Given the description of an element on the screen output the (x, y) to click on. 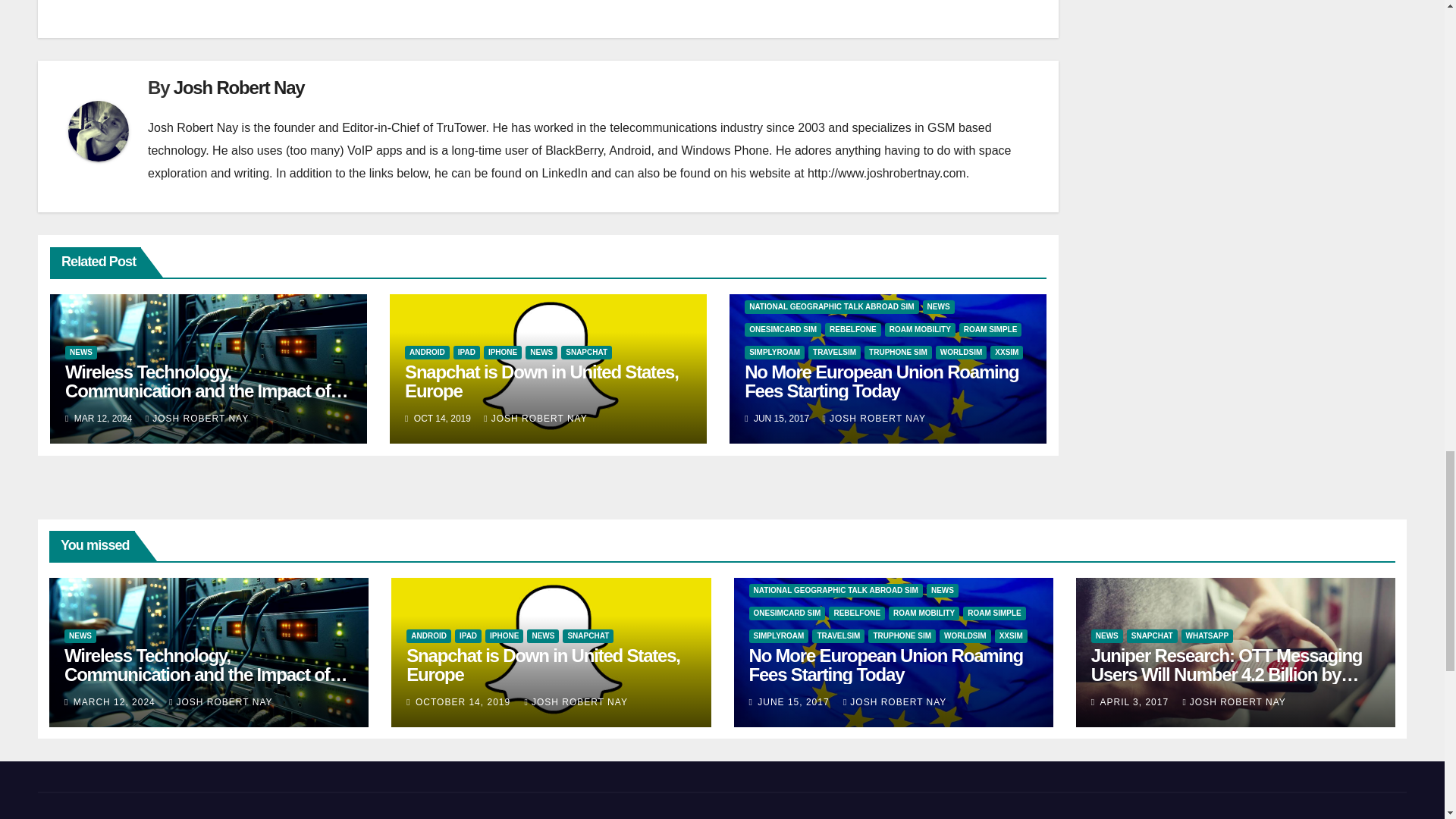
Permalink to: Snapchat is Down in United States, Europe (541, 381)
Permalink to: Snapchat is Down in United States, Europe (542, 664)
